Given the description of an element on the screen output the (x, y) to click on. 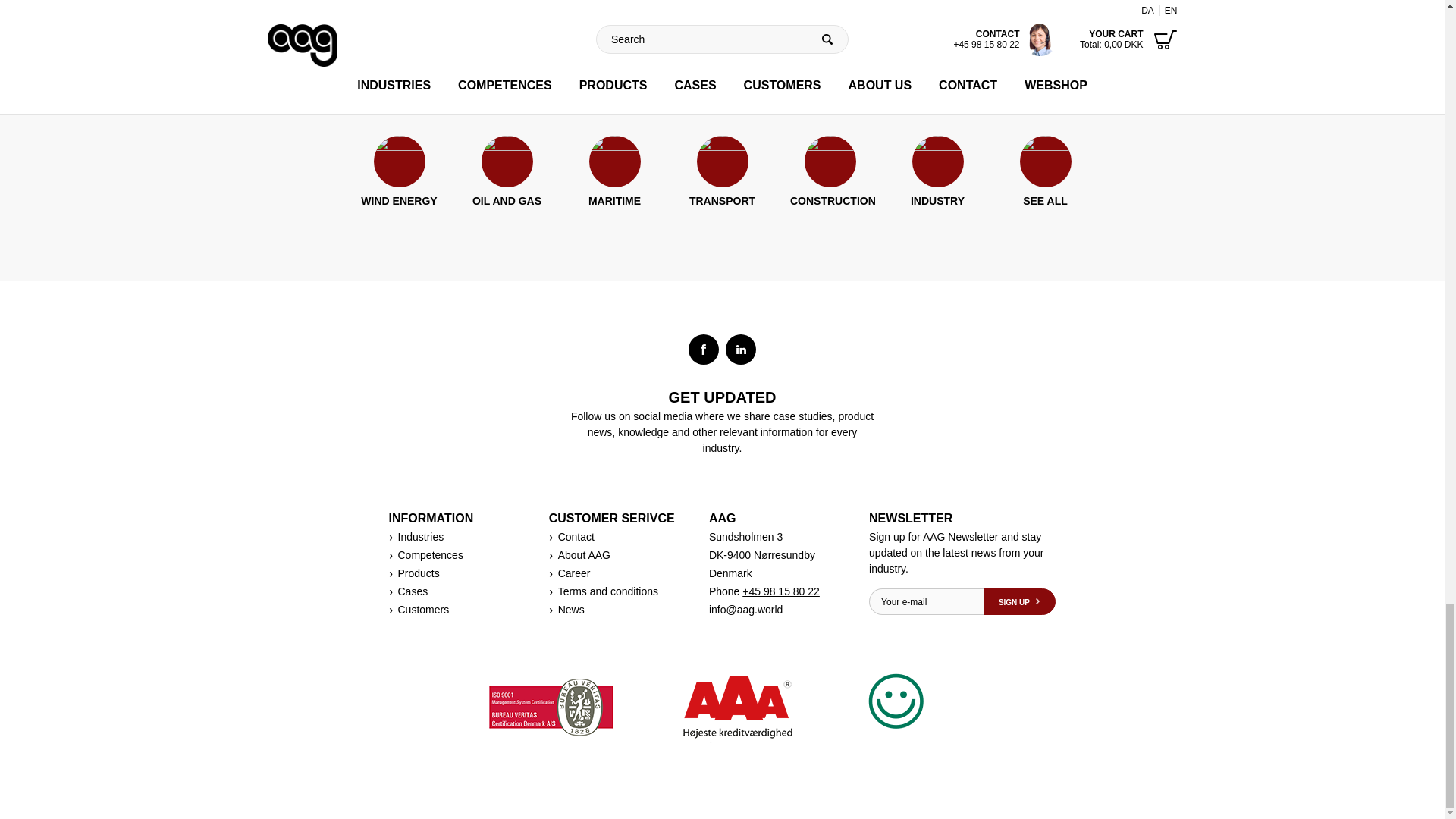
Sign up (1019, 601)
